Given the description of an element on the screen output the (x, y) to click on. 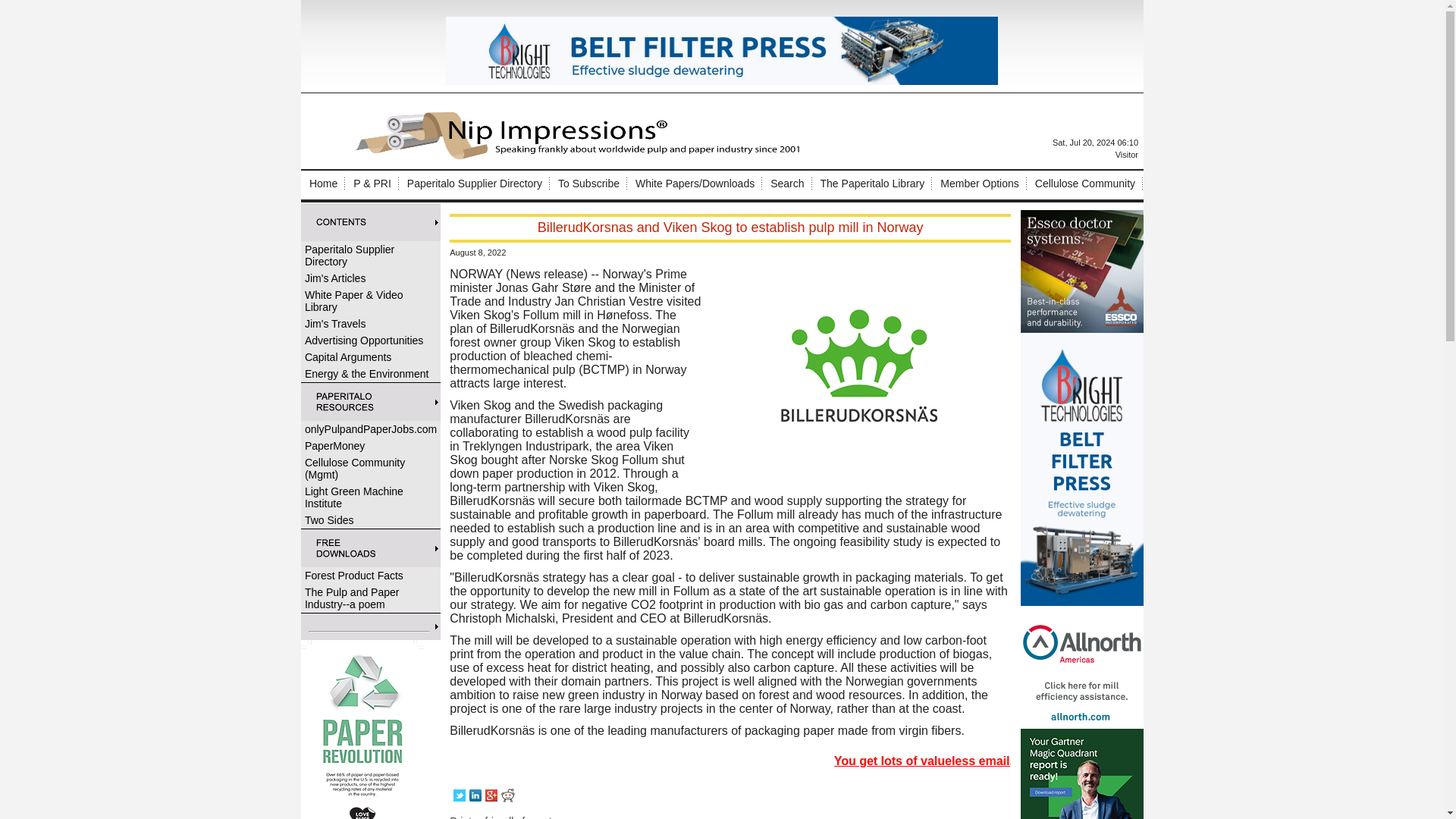
Search (786, 183)
Forest Product Facts (371, 575)
Advertising Opportunities (371, 340)
Reddit (507, 795)
Paperitalo Supplier Directory (371, 255)
The Paperitalo Library (872, 183)
Jim's Travels (371, 323)
To Subscribe (588, 183)
onlyPulpandPaperJobs.com (371, 428)
Two Sides (371, 519)
Cellulose Community (1085, 183)
Paperitalo Supplier Directory (474, 183)
LinkedIn (474, 795)
Twitter (458, 795)
Home (322, 183)
